Given the description of an element on the screen output the (x, y) to click on. 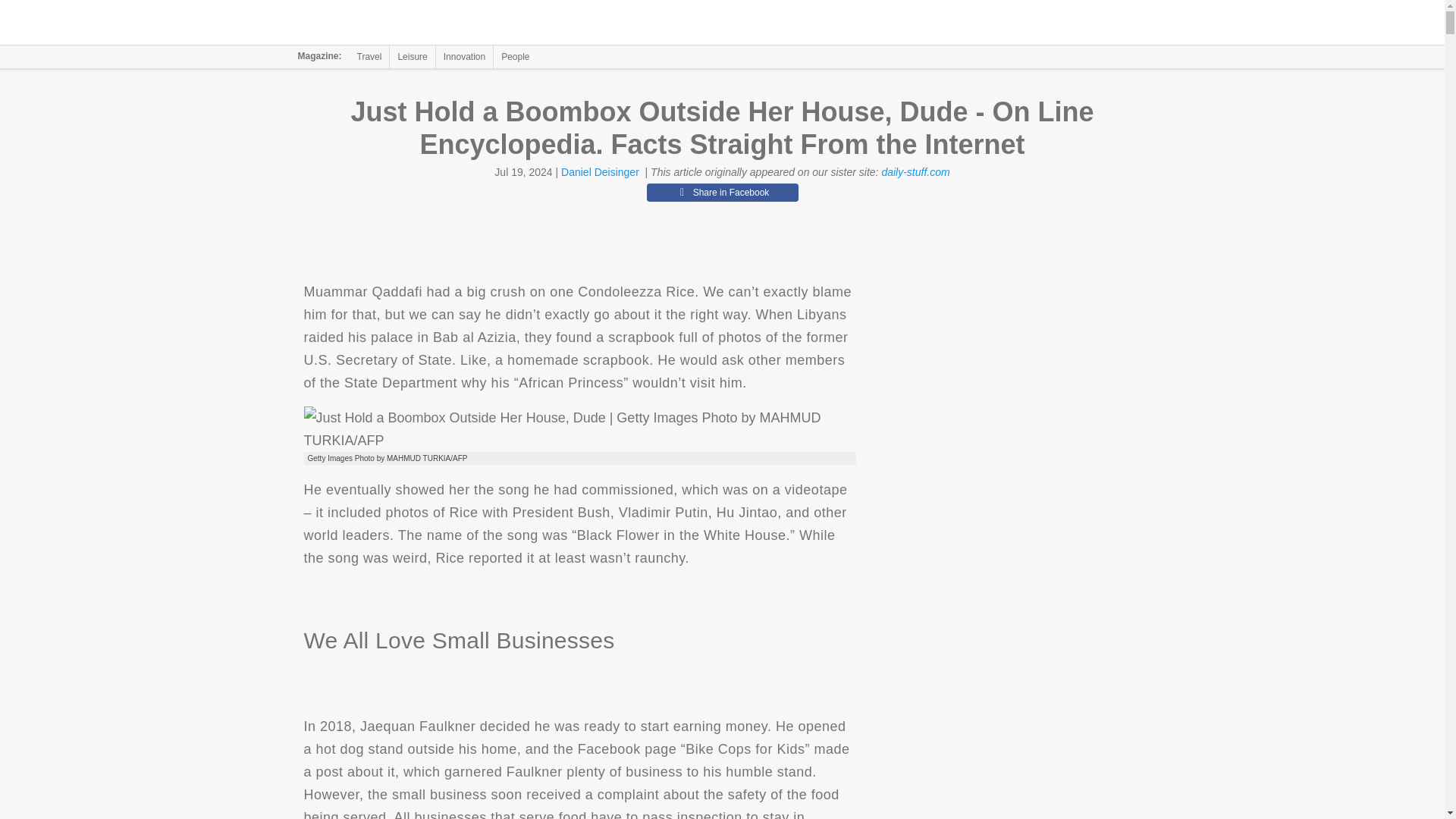
Leisure (411, 56)
The Jerusalem Post Magazine (391, 22)
Travel (369, 56)
Just Hold a Boombox Outside Her House, Dude (579, 429)
Innovation (464, 56)
daily-stuff.com (914, 172)
Daniel Deisinger (599, 172)
Share in Facebook (721, 192)
People (515, 56)
